Given the description of an element on the screen output the (x, y) to click on. 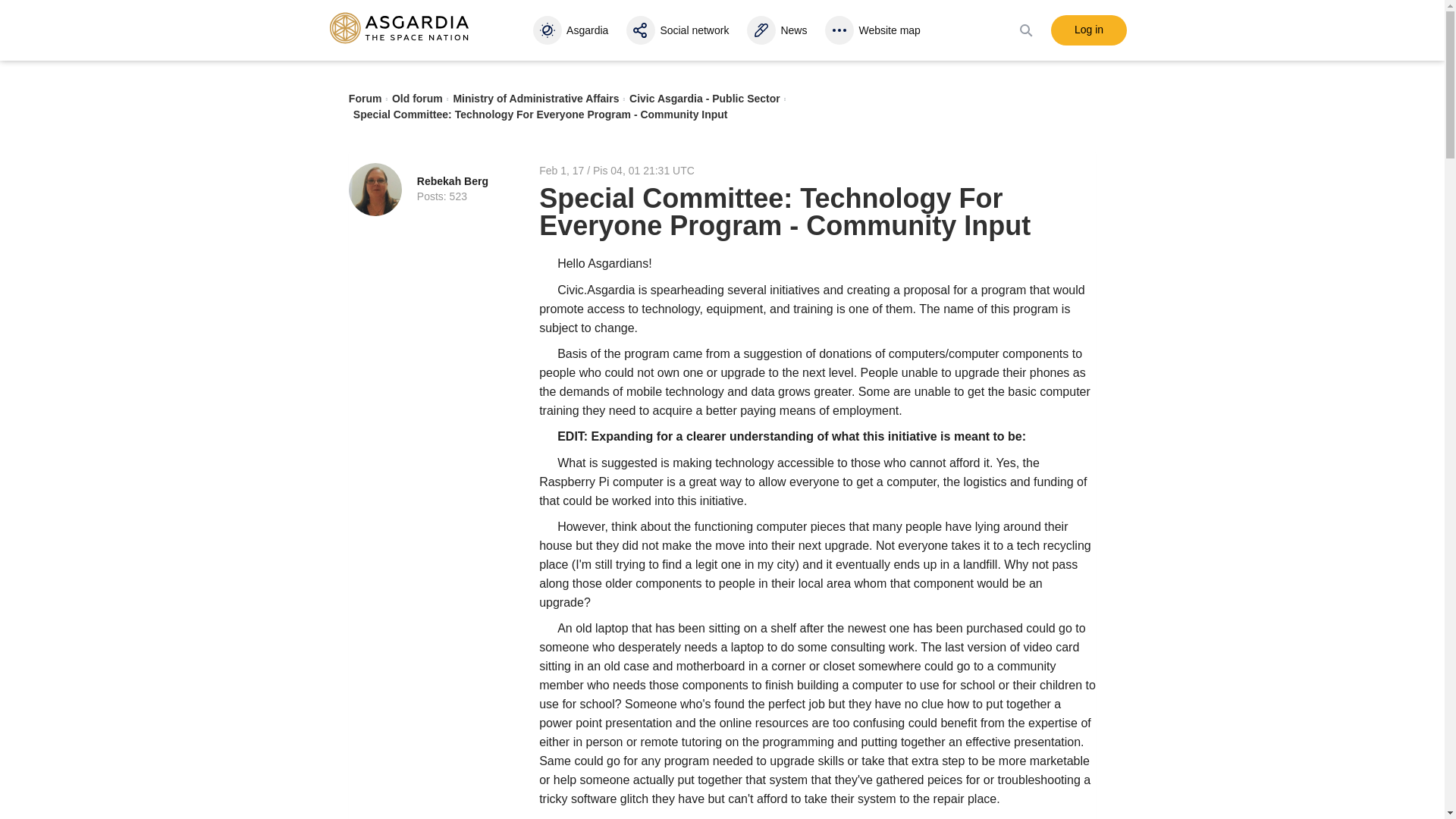
Website map (874, 30)
Asgardia (572, 30)
News (778, 30)
Social (679, 30)
More (874, 30)
Asgardia (572, 30)
Social network (679, 30)
Log in (1088, 30)
News (778, 30)
